Given the description of an element on the screen output the (x, y) to click on. 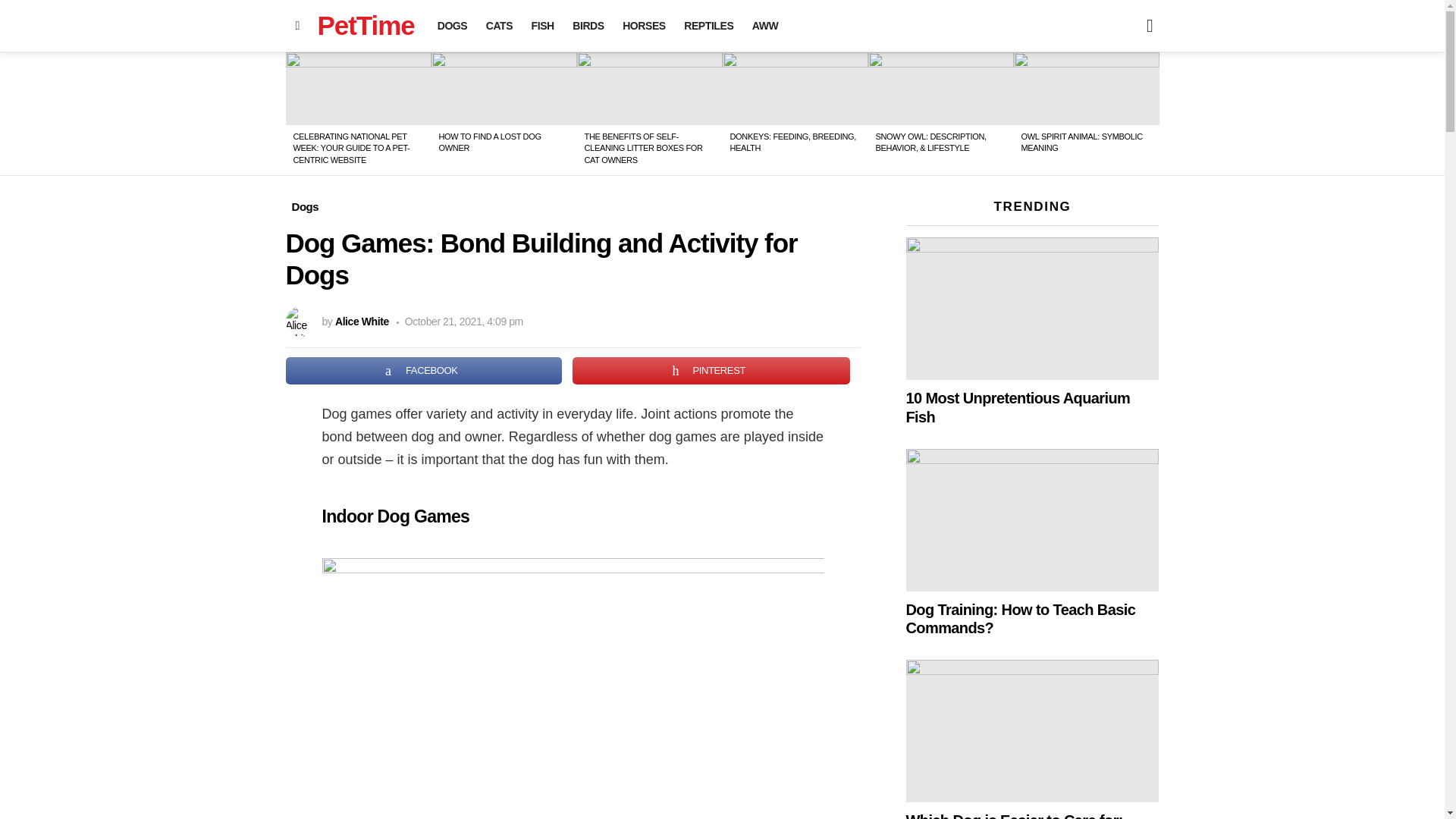
PetTime (365, 25)
PINTEREST (711, 370)
Owl Spirit Animal: Symbolic Meaning (1085, 88)
REPTILES (709, 25)
OWL SPIRIT ANIMAL: SYMBOLIC MEANING (1080, 141)
Alice White (361, 321)
AWW (765, 25)
DOGS (452, 25)
How to Find a Lost Dog Owner (503, 88)
FISH (543, 25)
